Given the description of an element on the screen output the (x, y) to click on. 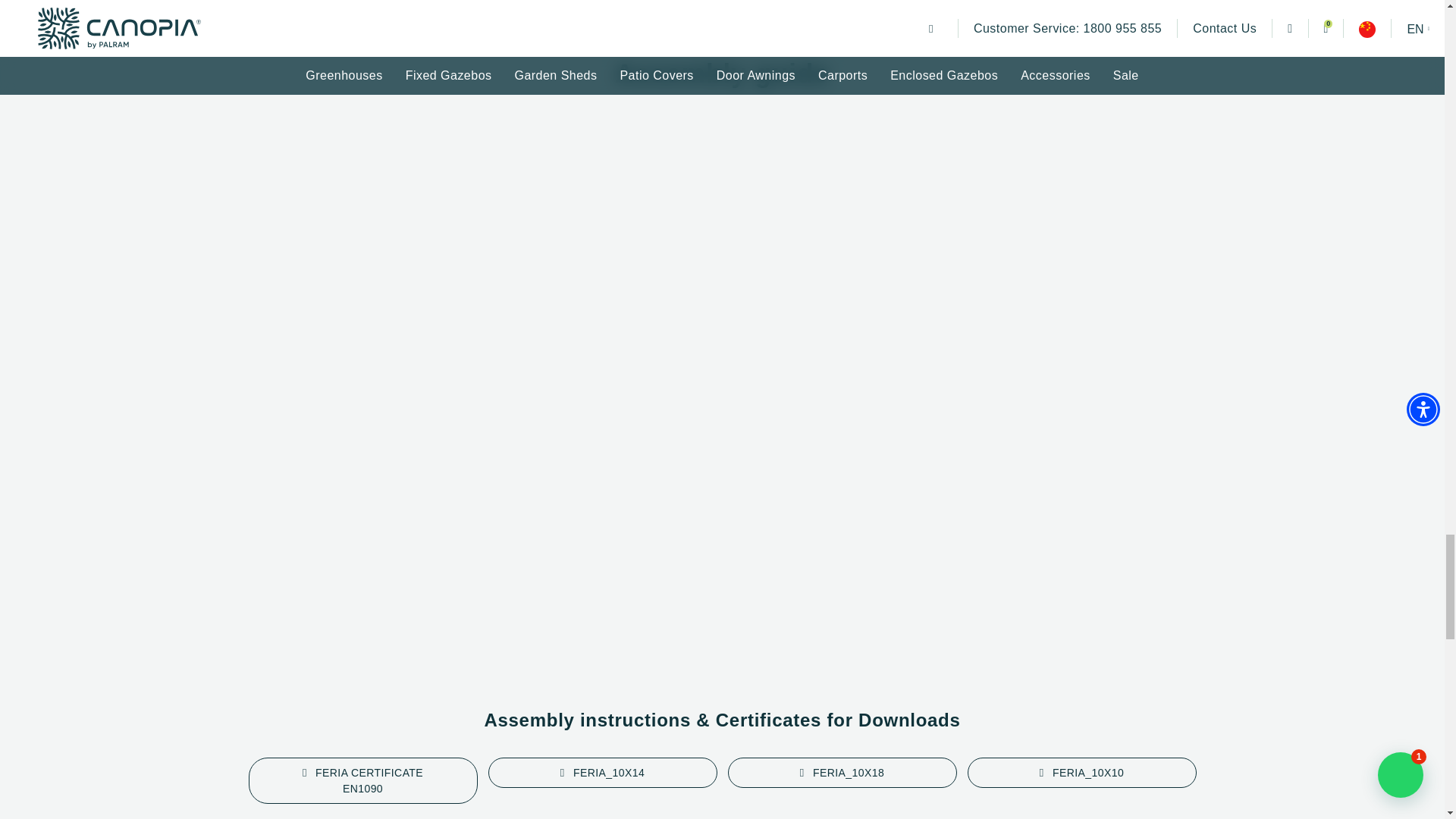
Download Guide for Feria Certificate EN1090 (362, 780)
